Given the description of an element on the screen output the (x, y) to click on. 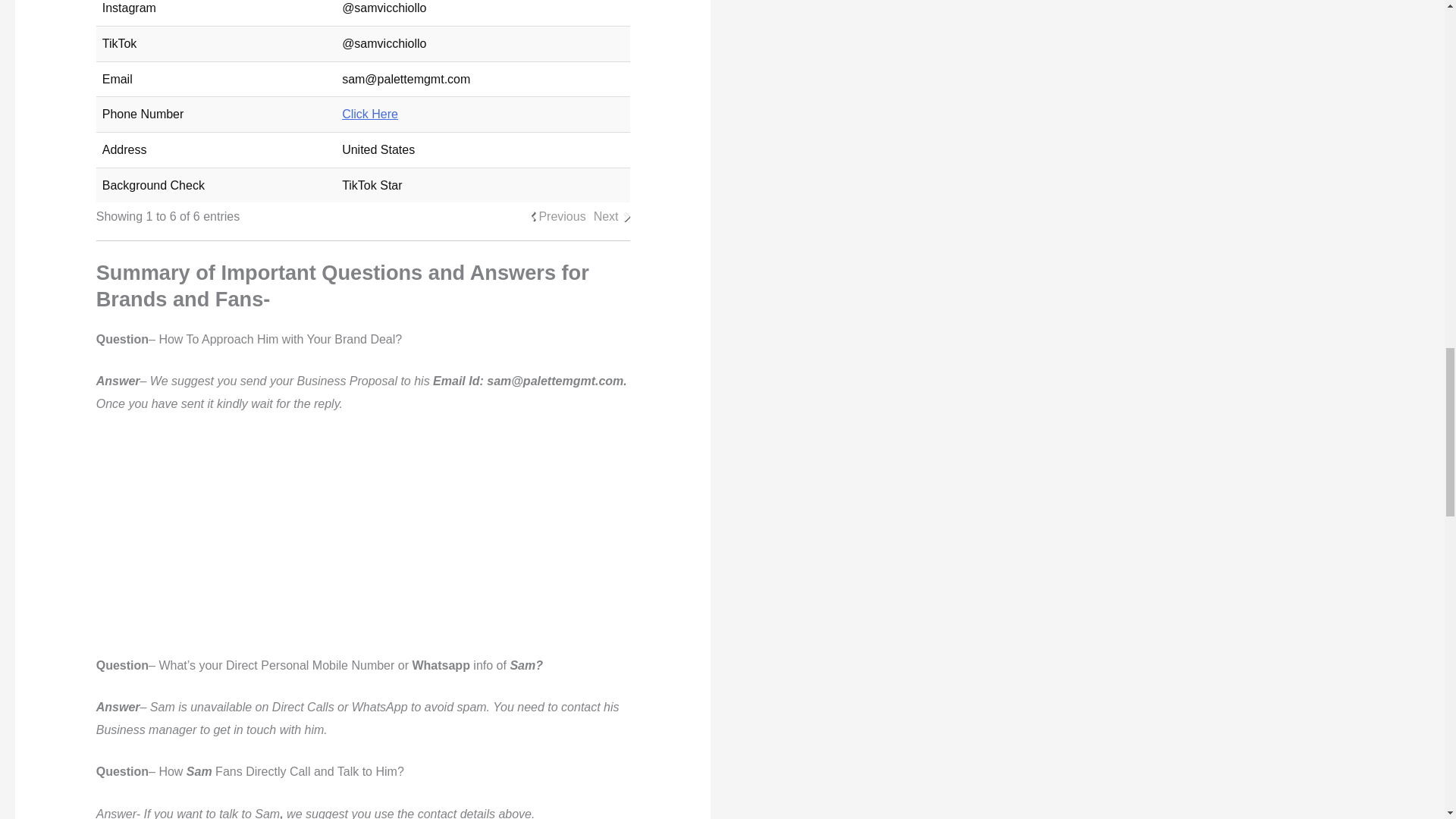
Previous (561, 216)
Next (606, 216)
Advertisement (362, 540)
Click Here (369, 113)
